Given the description of an element on the screen output the (x, y) to click on. 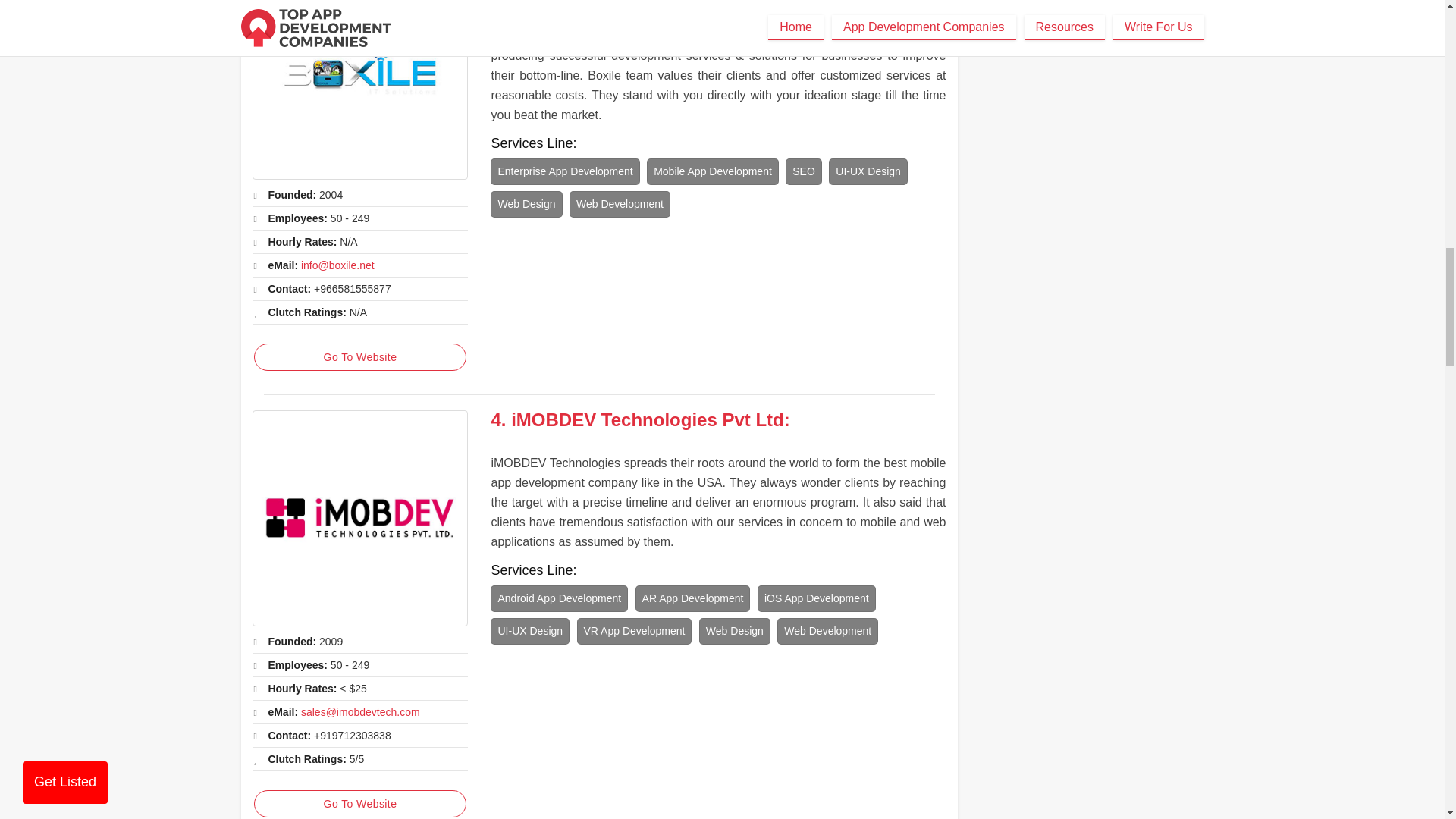
Go To Website (359, 803)
iMOBDEV Technologies Pvt Ltd (647, 419)
iMOBDEV Technologies Pvt Ltd (359, 518)
Boxile (359, 89)
Go To Website (359, 357)
